Given the description of an element on the screen output the (x, y) to click on. 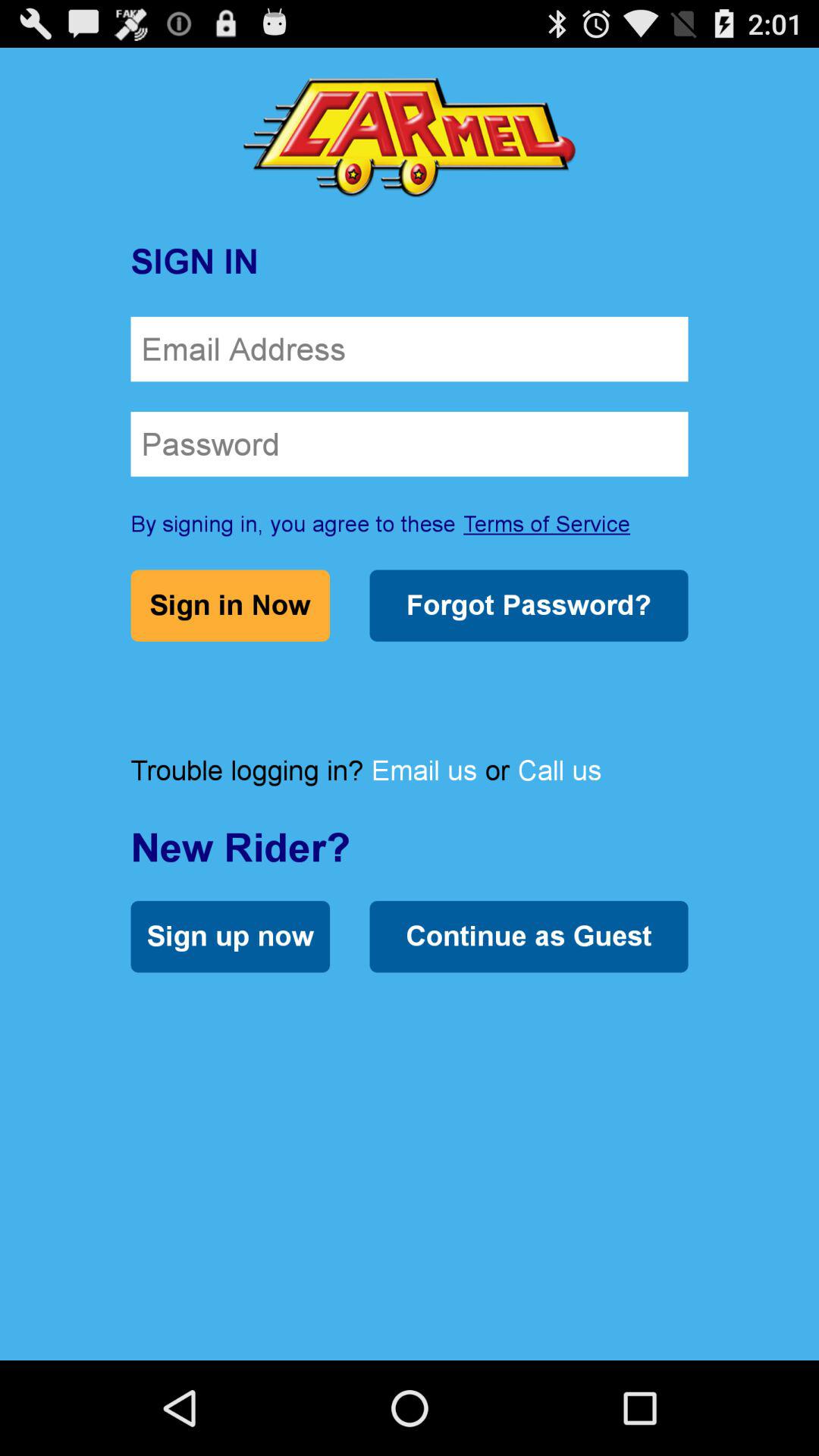
turn on icon next to the by signing in icon (546, 523)
